Given the description of an element on the screen output the (x, y) to click on. 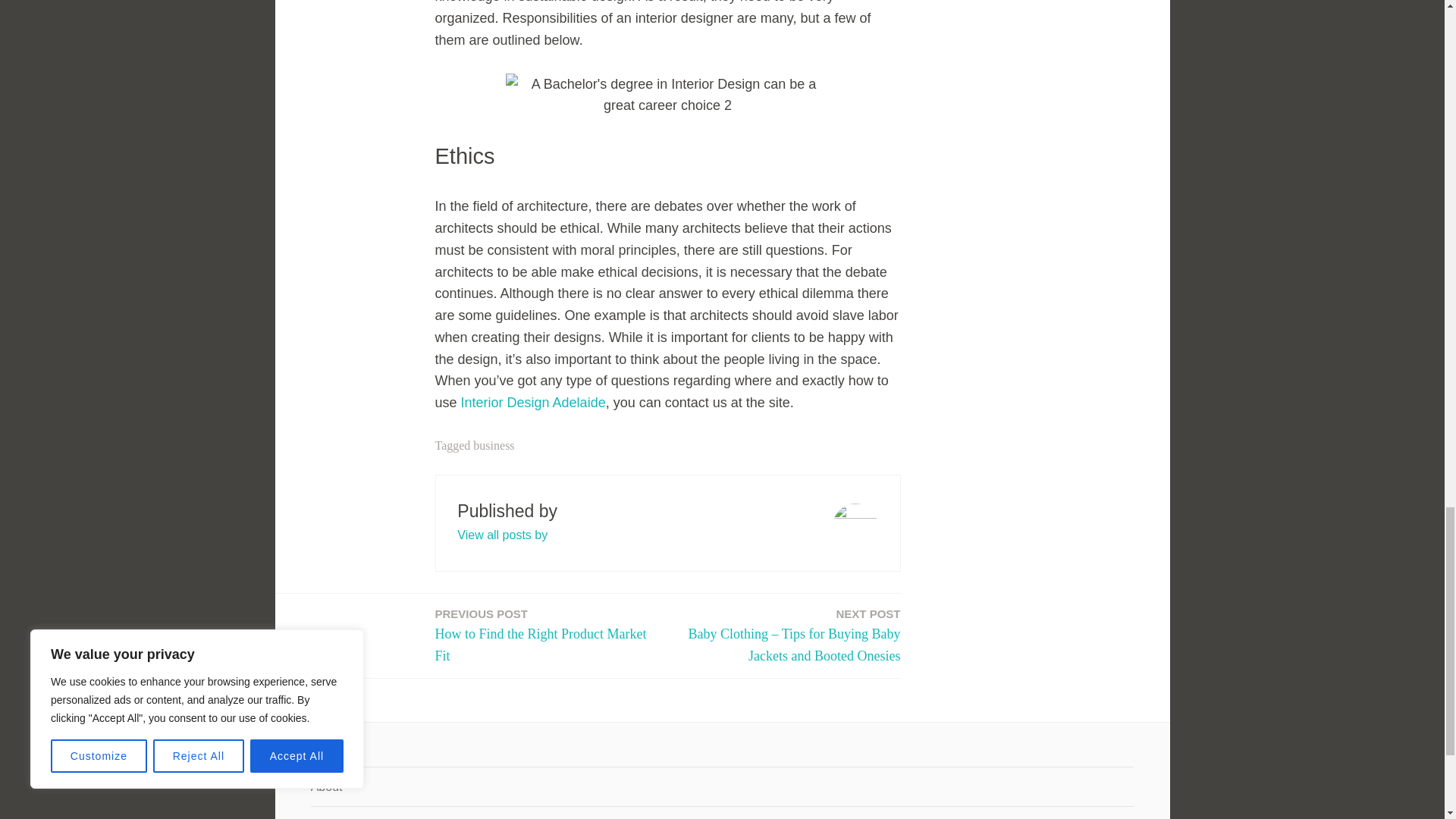
Interior Design Adelaide (533, 402)
business (493, 445)
View all posts by (502, 534)
